Given the description of an element on the screen output the (x, y) to click on. 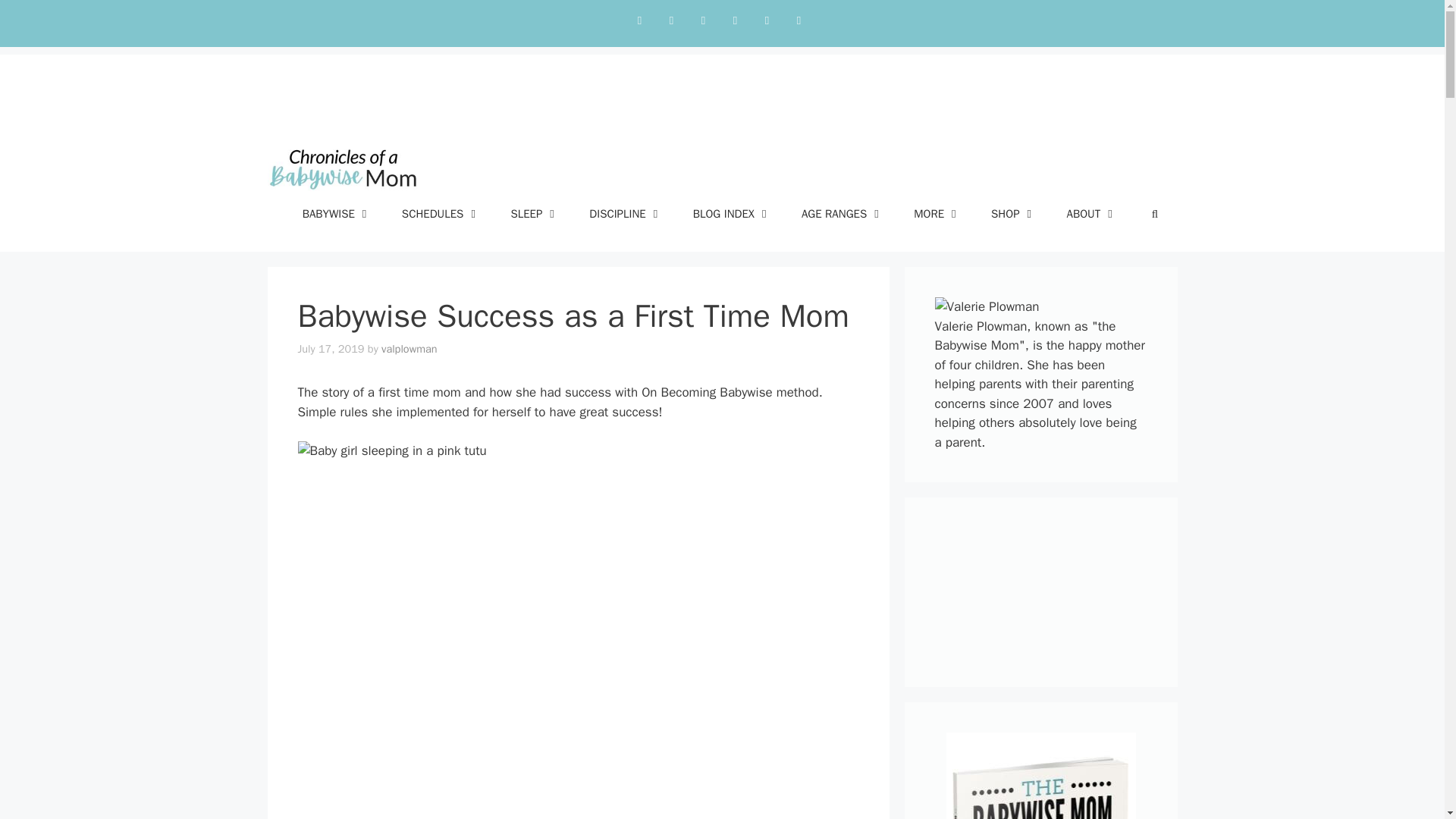
Facebook (703, 20)
YouTube (766, 20)
Twitter (639, 20)
View all posts by valplowman (409, 348)
Pinterest (735, 20)
Instagram (671, 20)
SLEEP (534, 213)
BABYWISE (336, 213)
DISCIPLINE (625, 213)
Newsletter (798, 20)
SCHEDULES (441, 213)
